Given the description of an element on the screen output the (x, y) to click on. 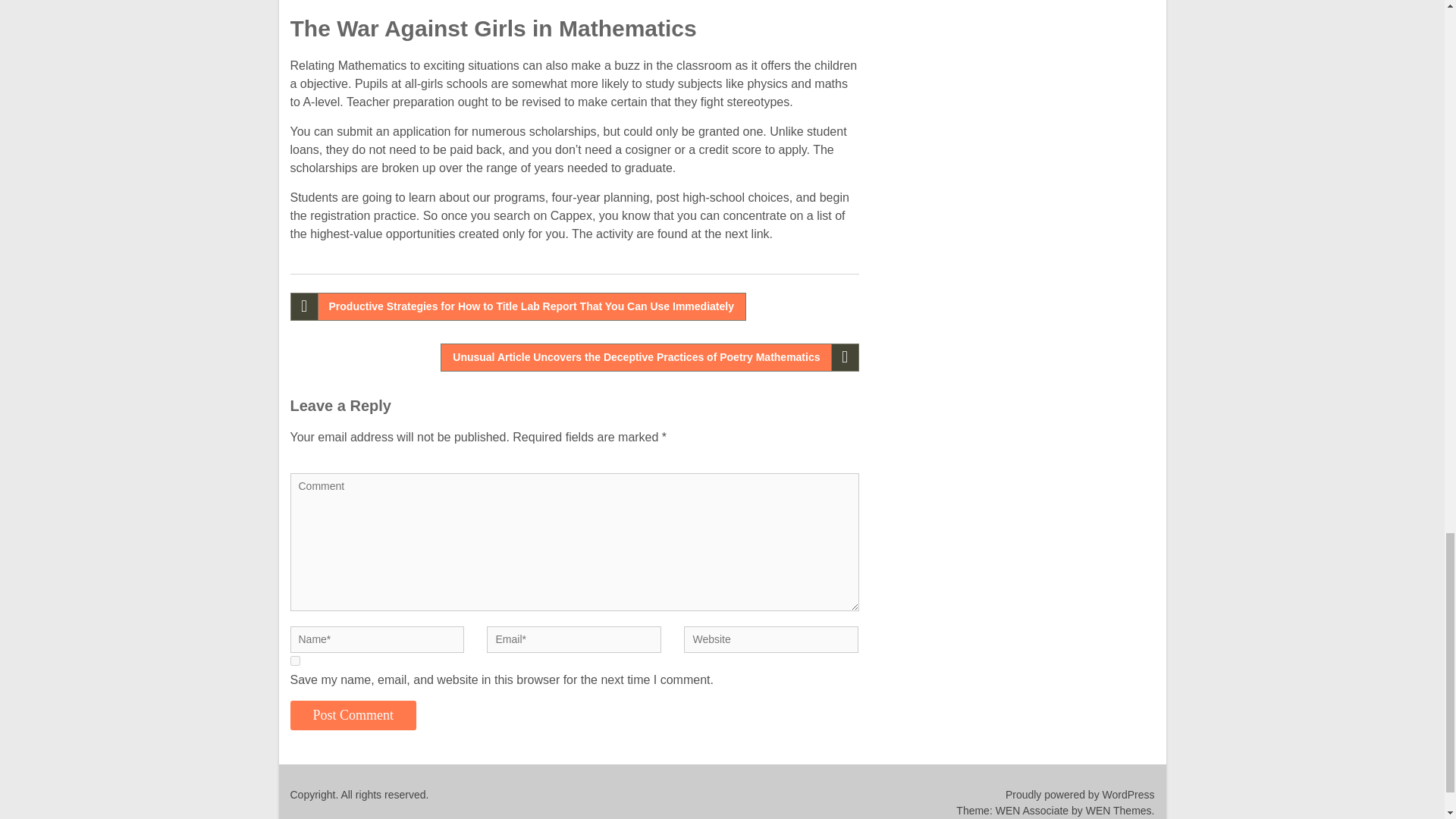
Post Comment (352, 715)
Post Comment (352, 715)
yes (294, 660)
